Given the description of an element on the screen output the (x, y) to click on. 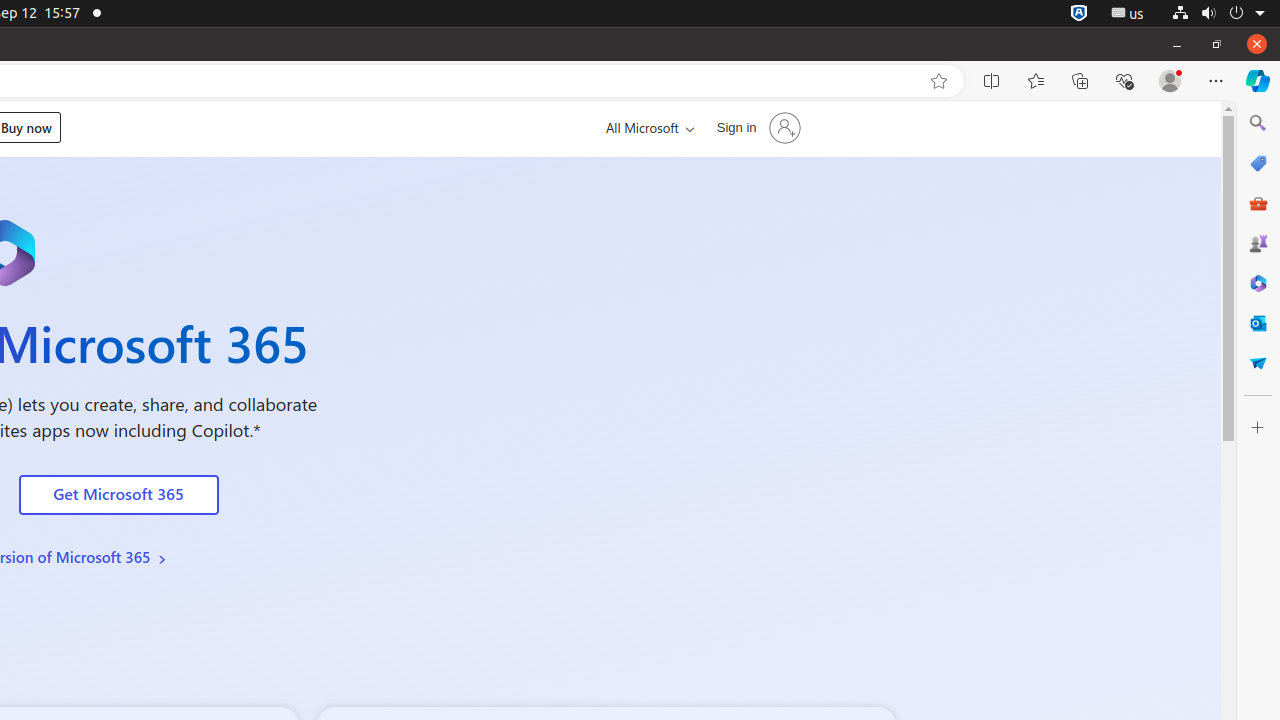
Add this page to favorites (Ctrl+D) Element type: push-button (939, 81)
:1.72/StatusNotifierItem Element type: menu (1079, 13)
